Given the description of an element on the screen output the (x, y) to click on. 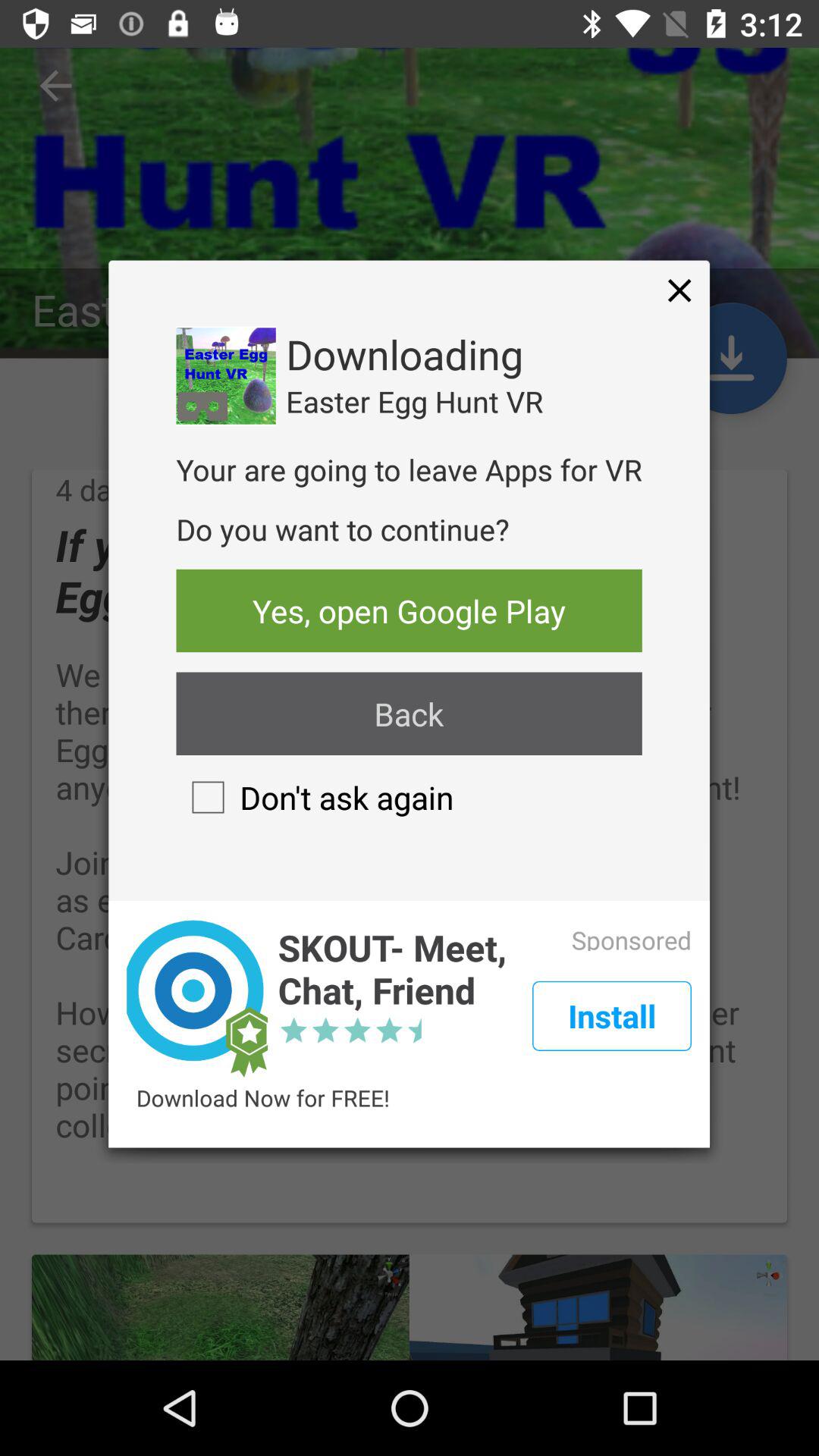
swipe until the don t ask checkbox (314, 797)
